Given the description of an element on the screen output the (x, y) to click on. 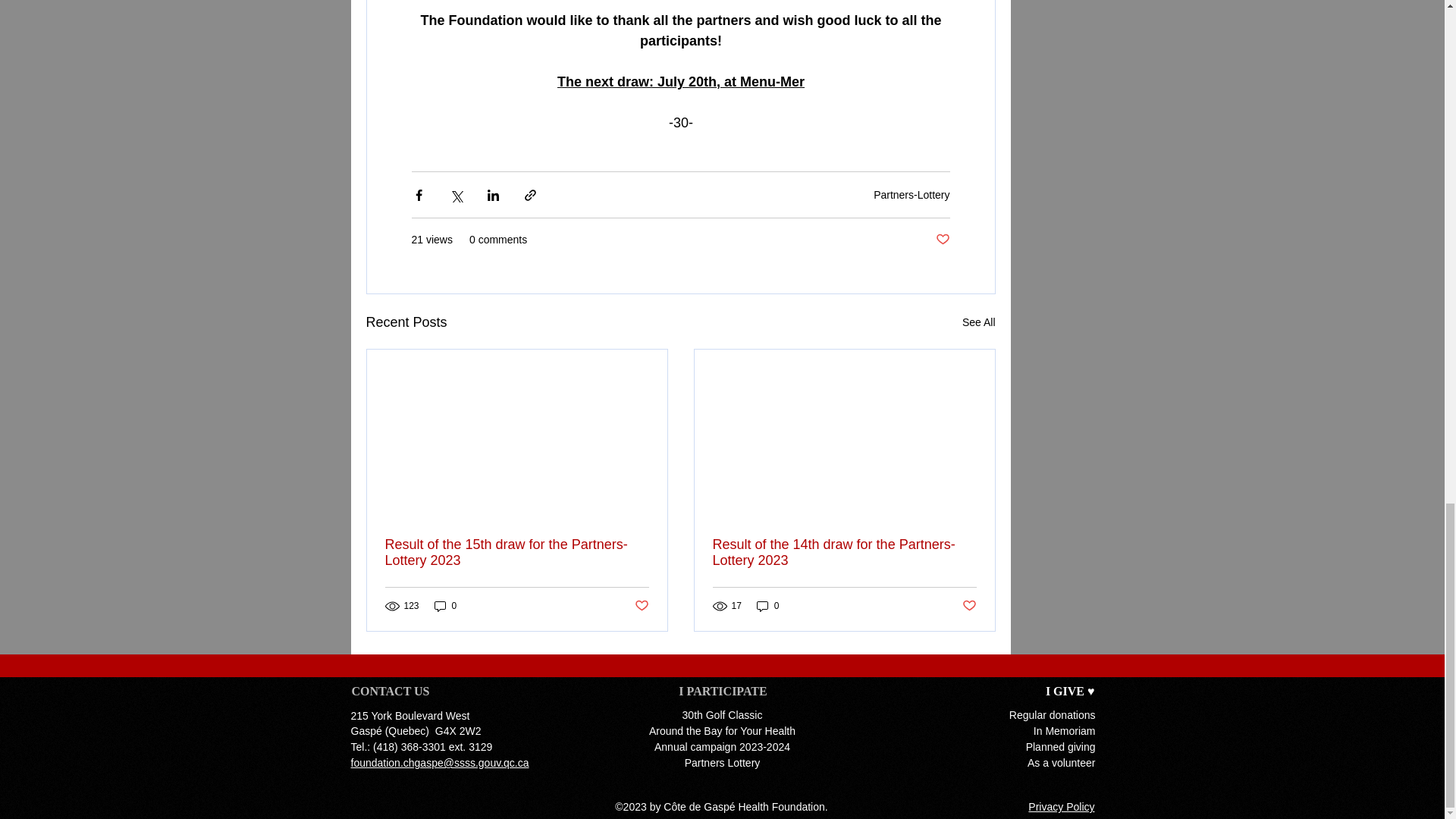
0 (767, 605)
See All (978, 322)
Post not marked as liked (967, 606)
Post not marked as liked (640, 606)
30th Golf Classic (722, 715)
Partners Lottery (722, 762)
Result of the 15th draw for the Partners-Lottery 2023 (517, 552)
Result of the 14th draw for the Partners-Lottery 2023 (844, 552)
Post not marked as liked (943, 239)
215 York Boulevard West (409, 715)
Around the Bay for Your Health (721, 730)
Partners-Lottery (911, 194)
Annual campaign 2023-2024 (721, 746)
0 (445, 605)
